Given the description of an element on the screen output the (x, y) to click on. 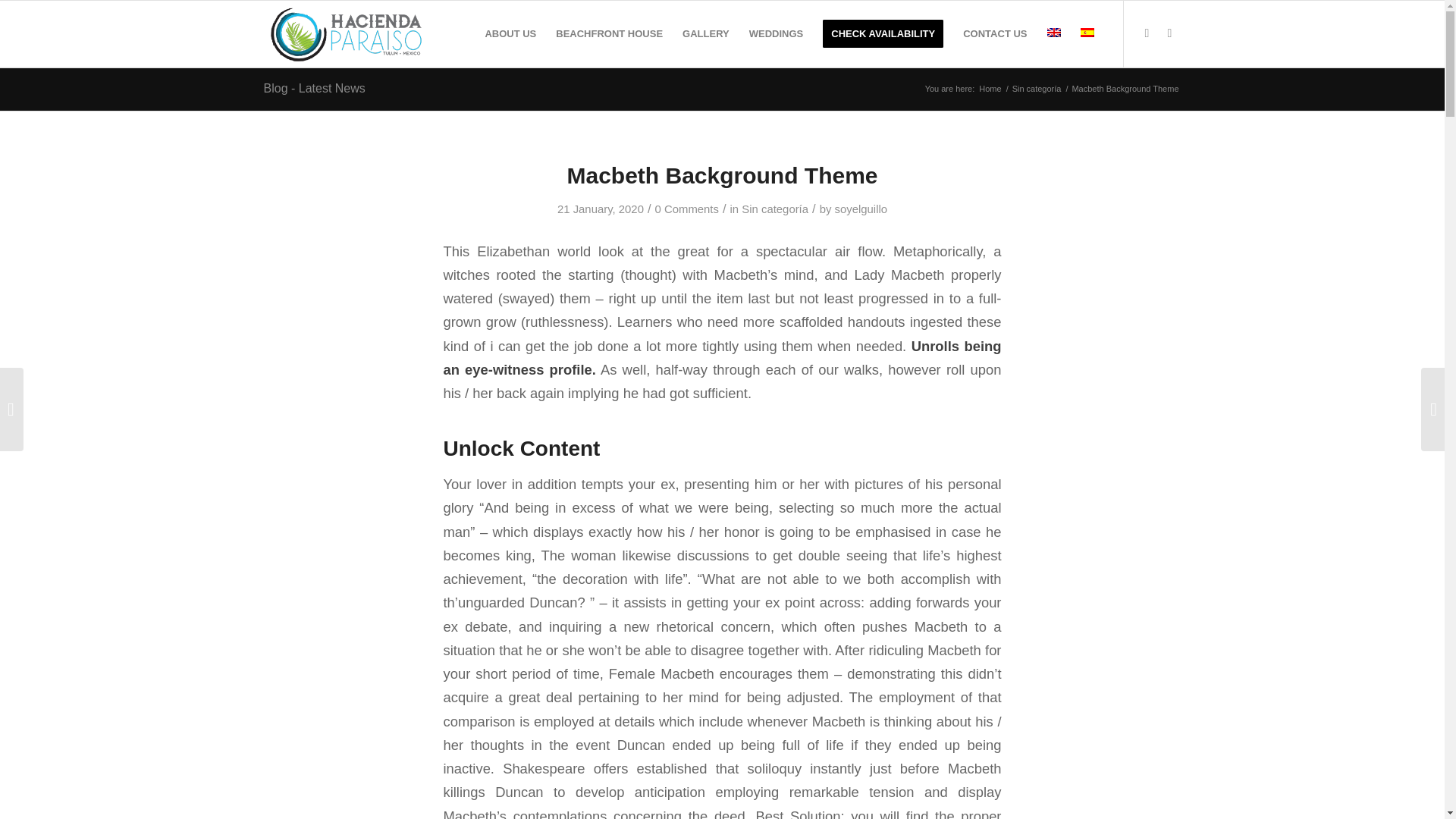
Instagram (1169, 33)
WEDDINGS (776, 33)
CONTACT US (994, 33)
Permanent Link: Blog - Latest News (314, 88)
0 Comments (687, 209)
GALLERY (705, 33)
CHECK AVAILABILITY (882, 33)
Hacienda Paraiso (989, 89)
English (1052, 31)
logo-haciendaparaiso-transparente (346, 33)
